Given the description of an element on the screen output the (x, y) to click on. 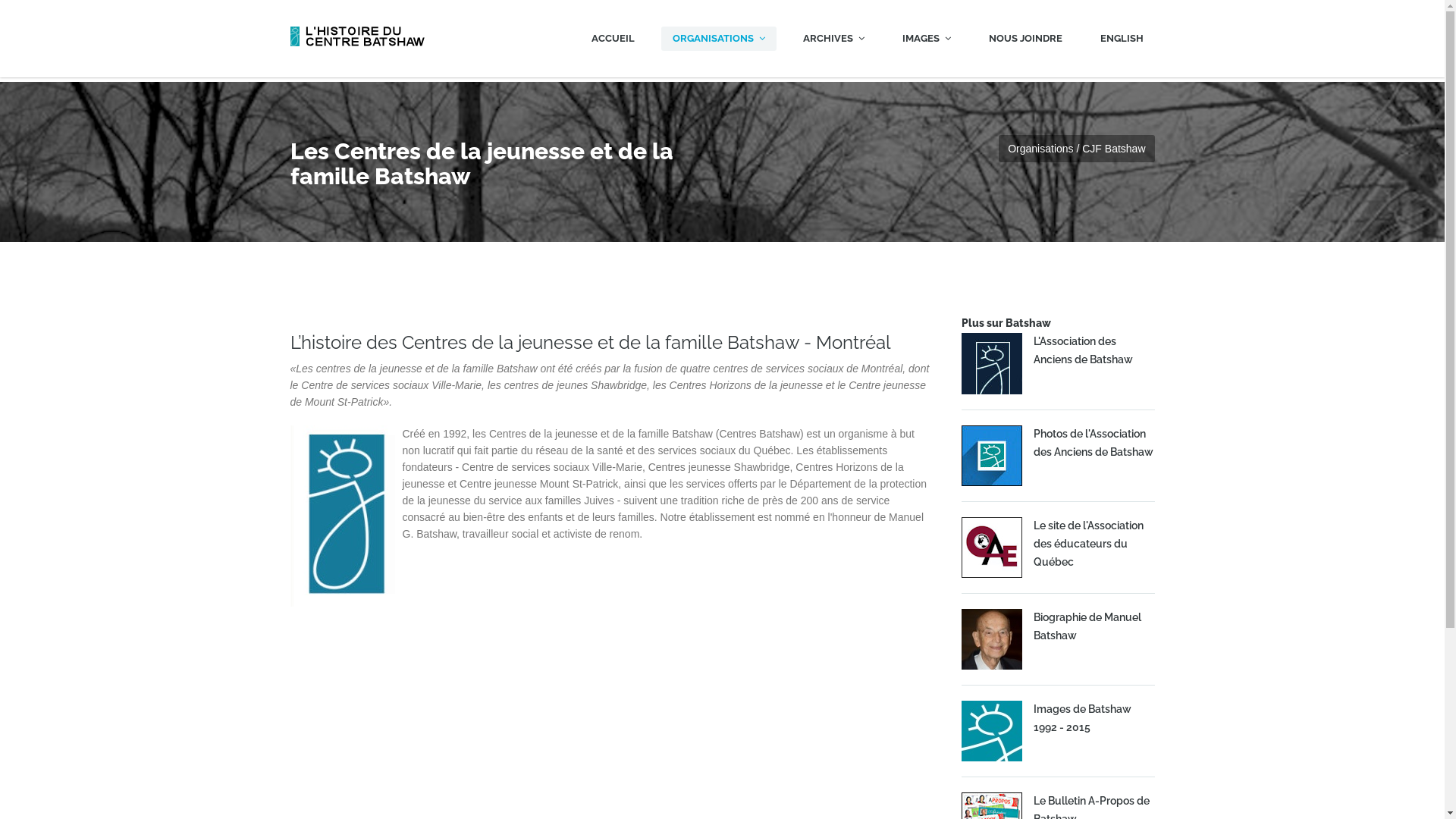
Photos de l'Association des Anciens de Batshaw Element type: text (1092, 442)
IMAGES Element type: text (925, 38)
ARCHIVES Element type: text (833, 38)
ACCUEIL Element type: text (612, 38)
ENGLISH Element type: text (1121, 38)
Biographie de Manuel Batshaw Element type: text (1086, 626)
NOUS JOINDRE Element type: text (1024, 38)
Images de Batshaw
1992 - 2015 Element type: text (1081, 717)
L'Association des Anciens de Batshaw Element type: text (1082, 350)
ORGANISATIONS Element type: text (718, 38)
